Given the description of an element on the screen output the (x, y) to click on. 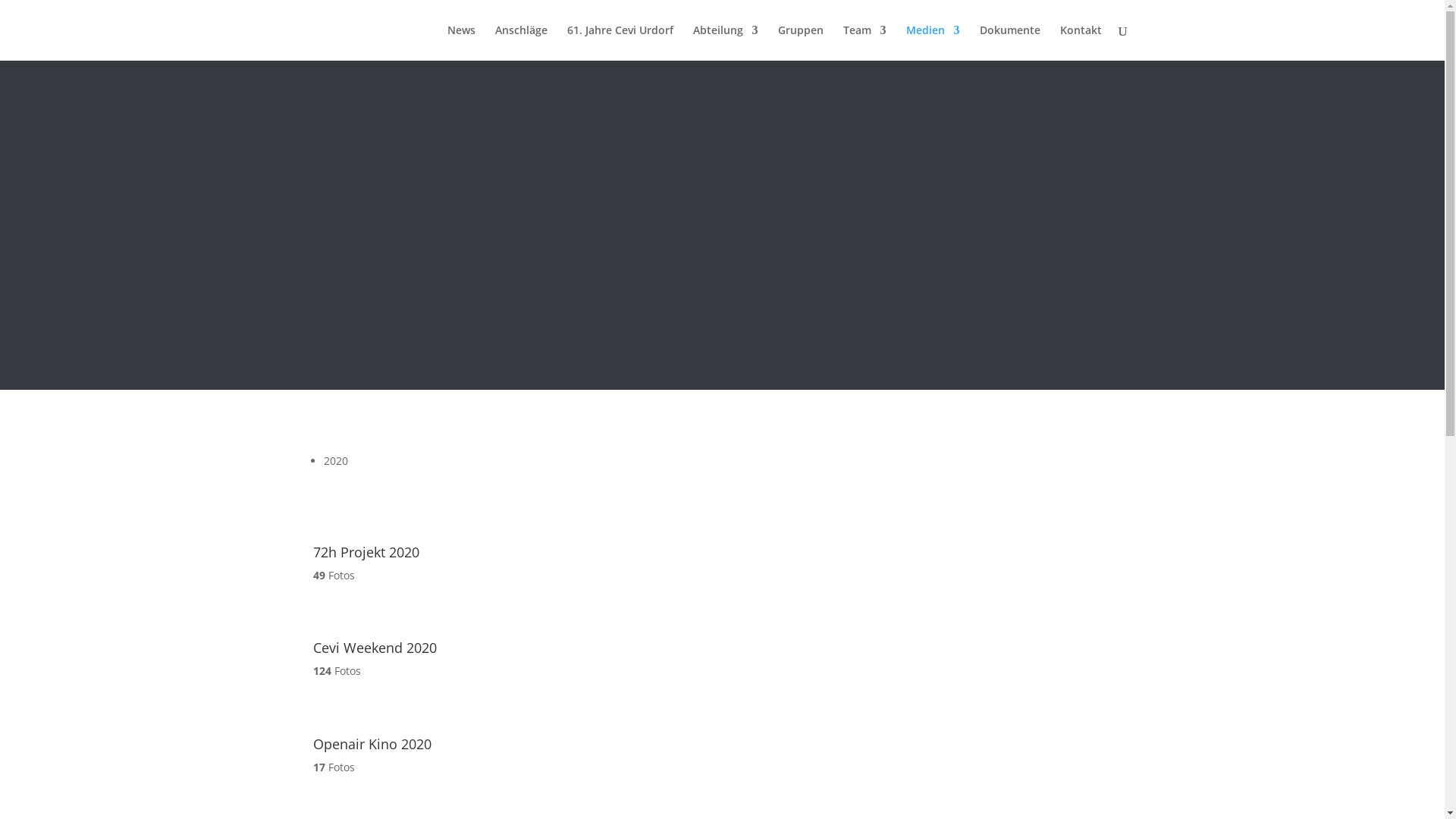
Team Element type: text (864, 42)
Dokumente Element type: text (1009, 42)
Medien Element type: text (932, 42)
Cevi Weekend 2020 Element type: text (374, 647)
Openair Kino 2020 Element type: hover (346, 727)
72h Projekt 2020 Element type: text (365, 551)
News Element type: text (461, 42)
Kontakt Element type: text (1080, 42)
61. Jahre Cevi Urdorf Element type: text (620, 42)
Gruppen Element type: text (800, 42)
Abteilung Element type: text (725, 42)
72h Projekt 2020 Element type: hover (346, 535)
Openair Kino 2020 Element type: text (371, 743)
Cevi Weekend 2020 Element type: hover (346, 631)
